Given the description of an element on the screen output the (x, y) to click on. 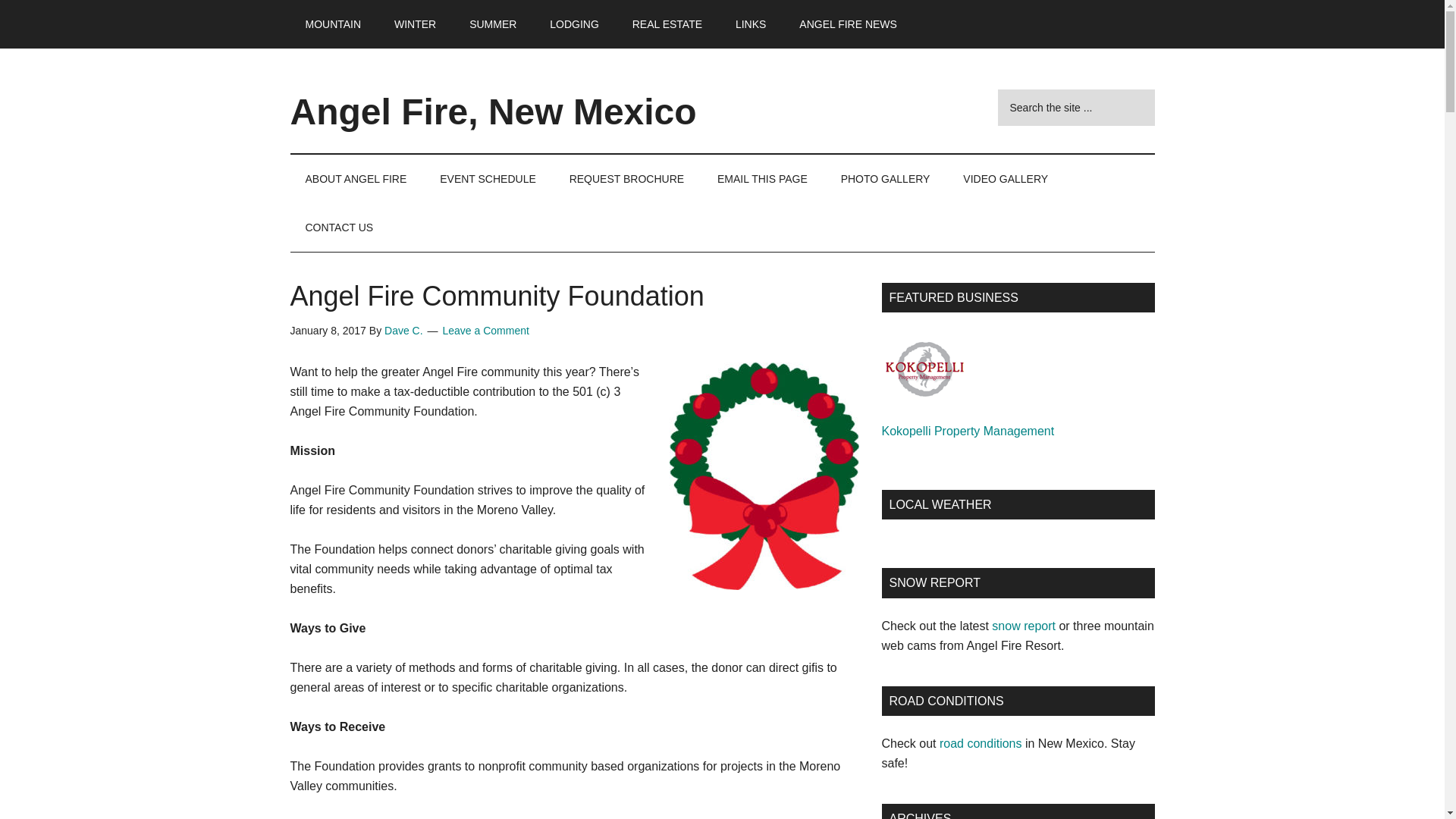
Kokopelli Property Management (924, 368)
SUMMER (492, 24)
MOUNTAIN (332, 24)
LODGING (574, 24)
WINTER (414, 24)
